Given the description of an element on the screen output the (x, y) to click on. 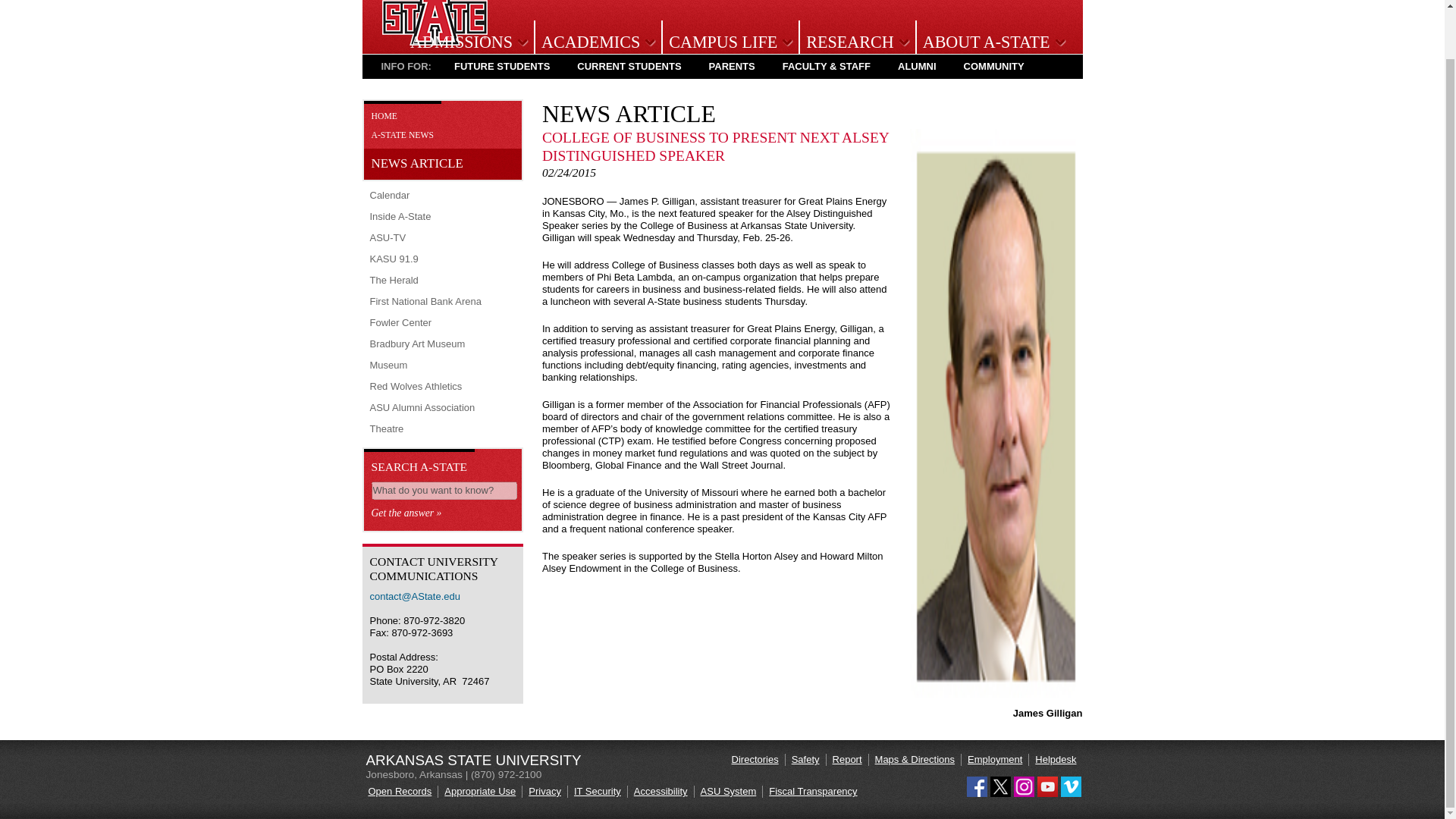
What do you want to know? (444, 490)
ADMISSIONS (466, 42)
Arkansas State University (434, 41)
ACADEMICS (595, 42)
CAMPUS LIFE (727, 42)
